Given the description of an element on the screen output the (x, y) to click on. 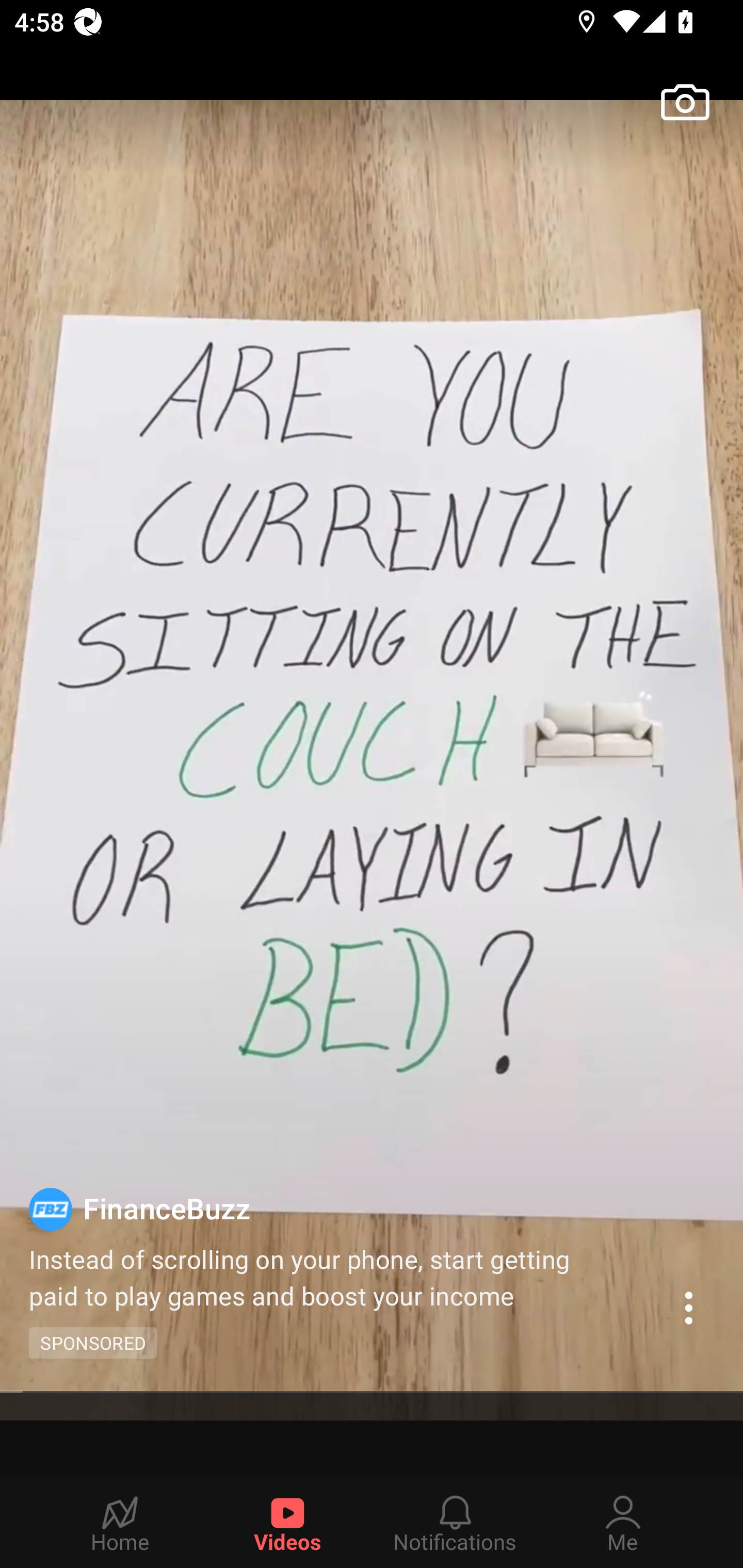
FinanceBuzz (344, 1207)
Home (119, 1522)
Notifications (455, 1522)
Me (622, 1522)
